Given the description of an element on the screen output the (x, y) to click on. 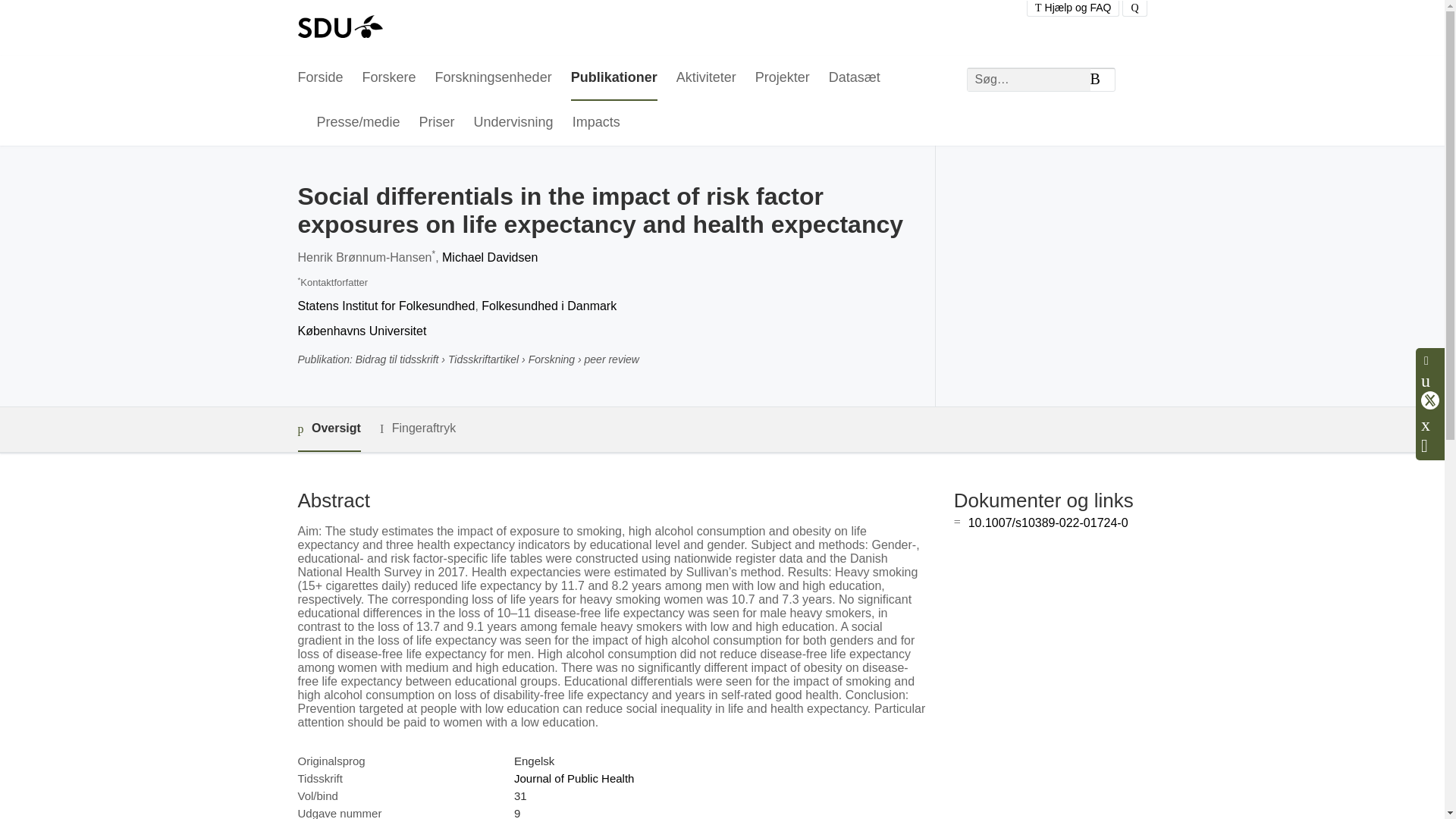
Michael Davidsen (489, 256)
Forskere (389, 78)
Publikationer (614, 78)
Forskningsenheder (493, 78)
Undervisning (513, 122)
Projekter (782, 78)
Impacts (596, 122)
Syddansk Universitet Forside (339, 27)
Oversigt (328, 429)
Forside (319, 78)
Fingeraftryk (417, 428)
Aktiviteter (706, 78)
Journal of Public Health (573, 778)
Statens Institut for Folkesundhed (385, 305)
